Given the description of an element on the screen output the (x, y) to click on. 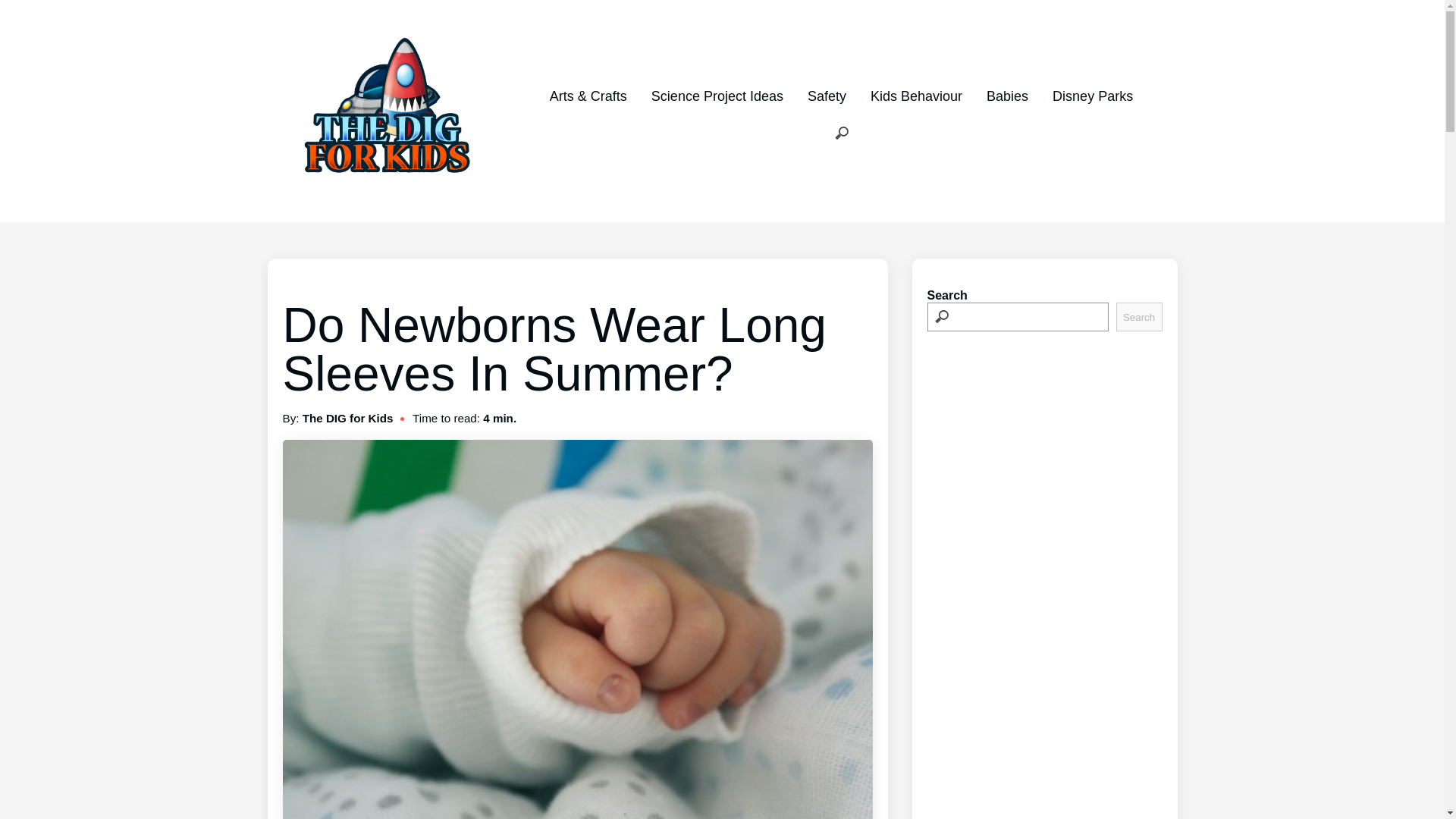
Babies (1007, 96)
Search (1138, 316)
Science Project Ideas (716, 96)
Safety (826, 96)
Search for: (841, 133)
Kids Behaviour (916, 96)
Disney Parks (1092, 96)
